Given the description of an element on the screen output the (x, y) to click on. 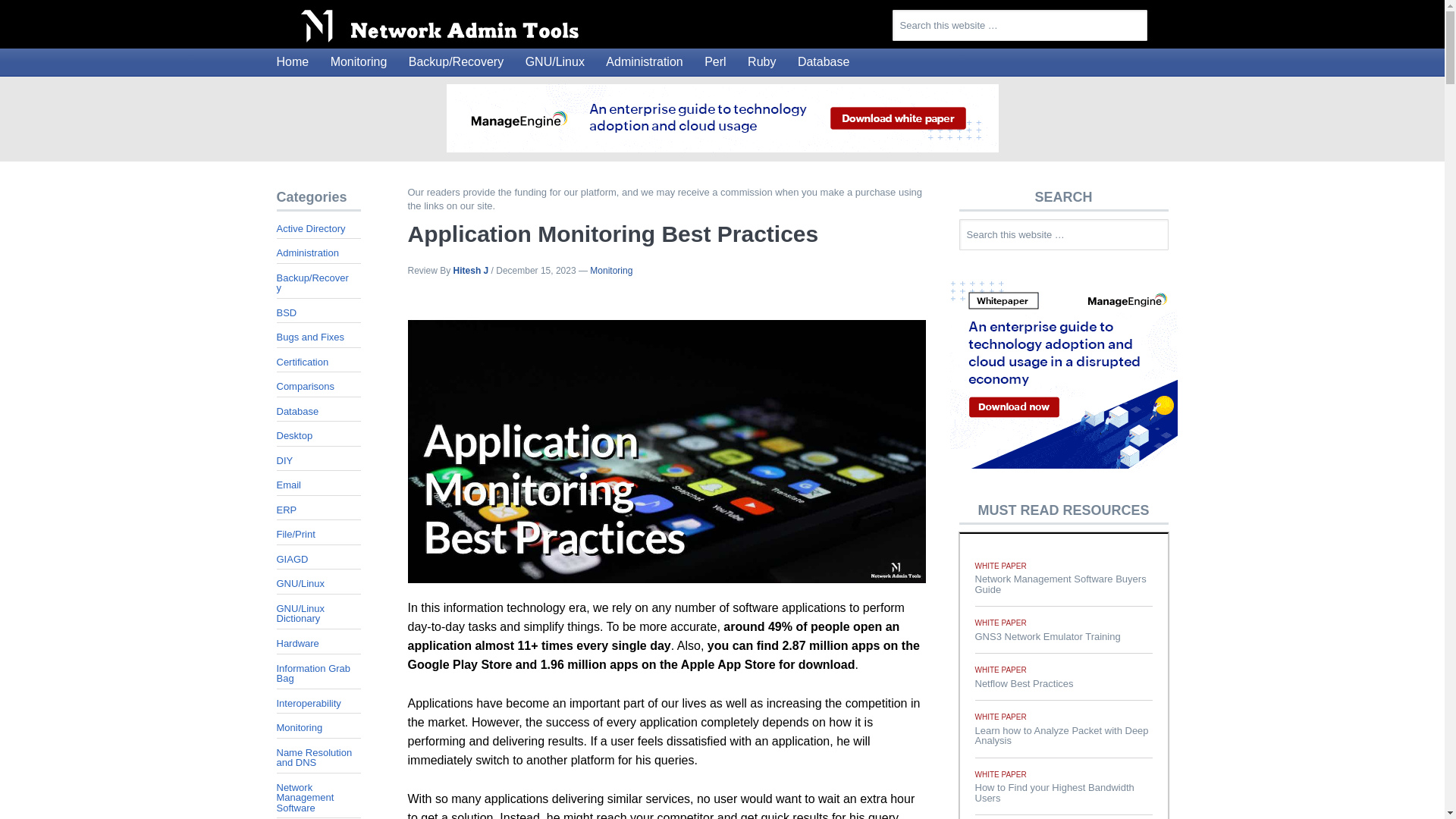
Ruby (761, 62)
Administration (643, 62)
Home (291, 62)
Database (824, 62)
Search (1156, 18)
Monitoring (610, 270)
Search (1156, 18)
Search (1177, 228)
Monitoring (358, 62)
Hitesh J (470, 270)
